Given the description of an element on the screen output the (x, y) to click on. 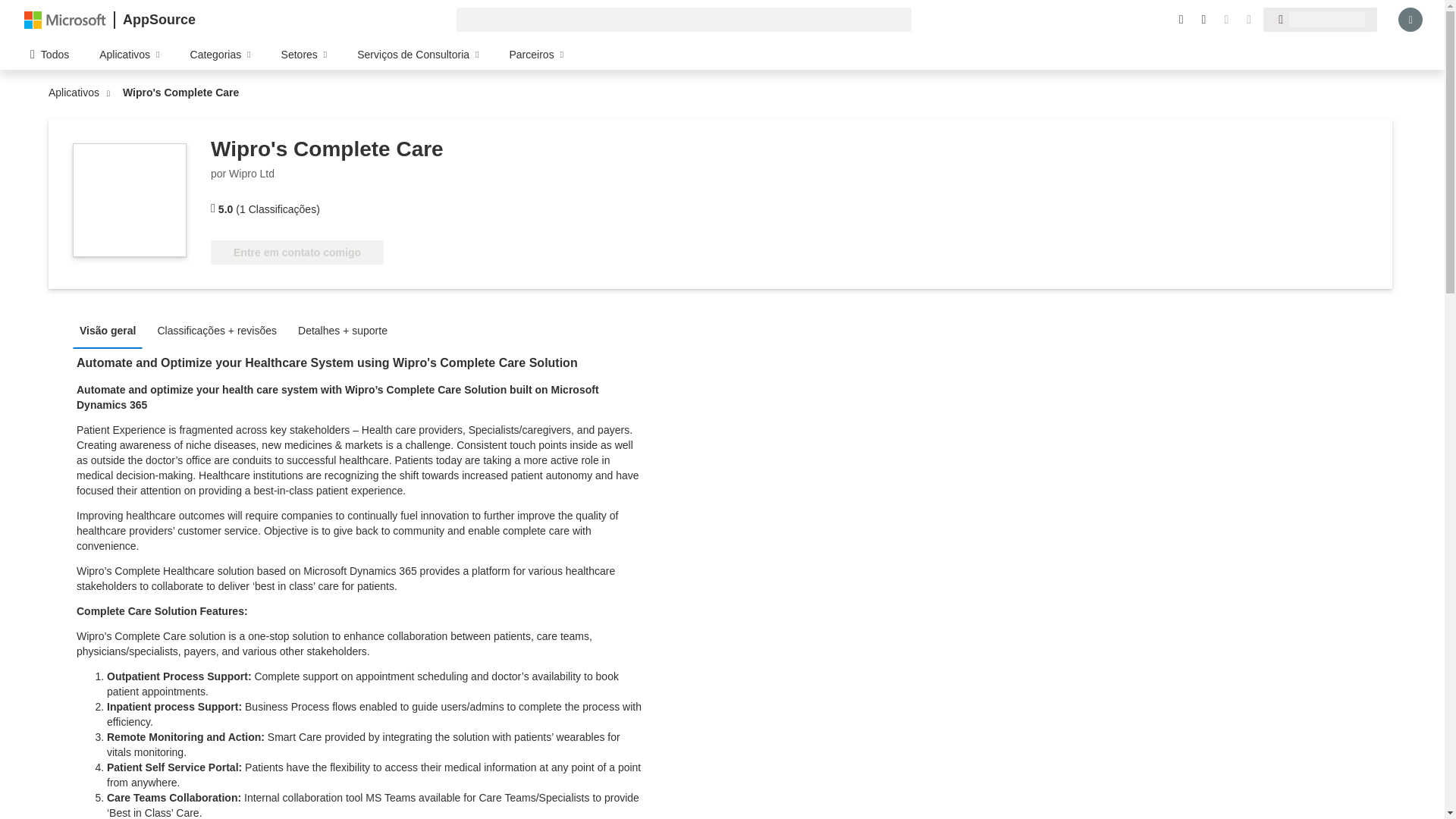
Aplicativos (77, 92)
Microsoft (65, 18)
AppSource (158, 19)
Entre em contato comigo (297, 252)
